Given the description of an element on the screen output the (x, y) to click on. 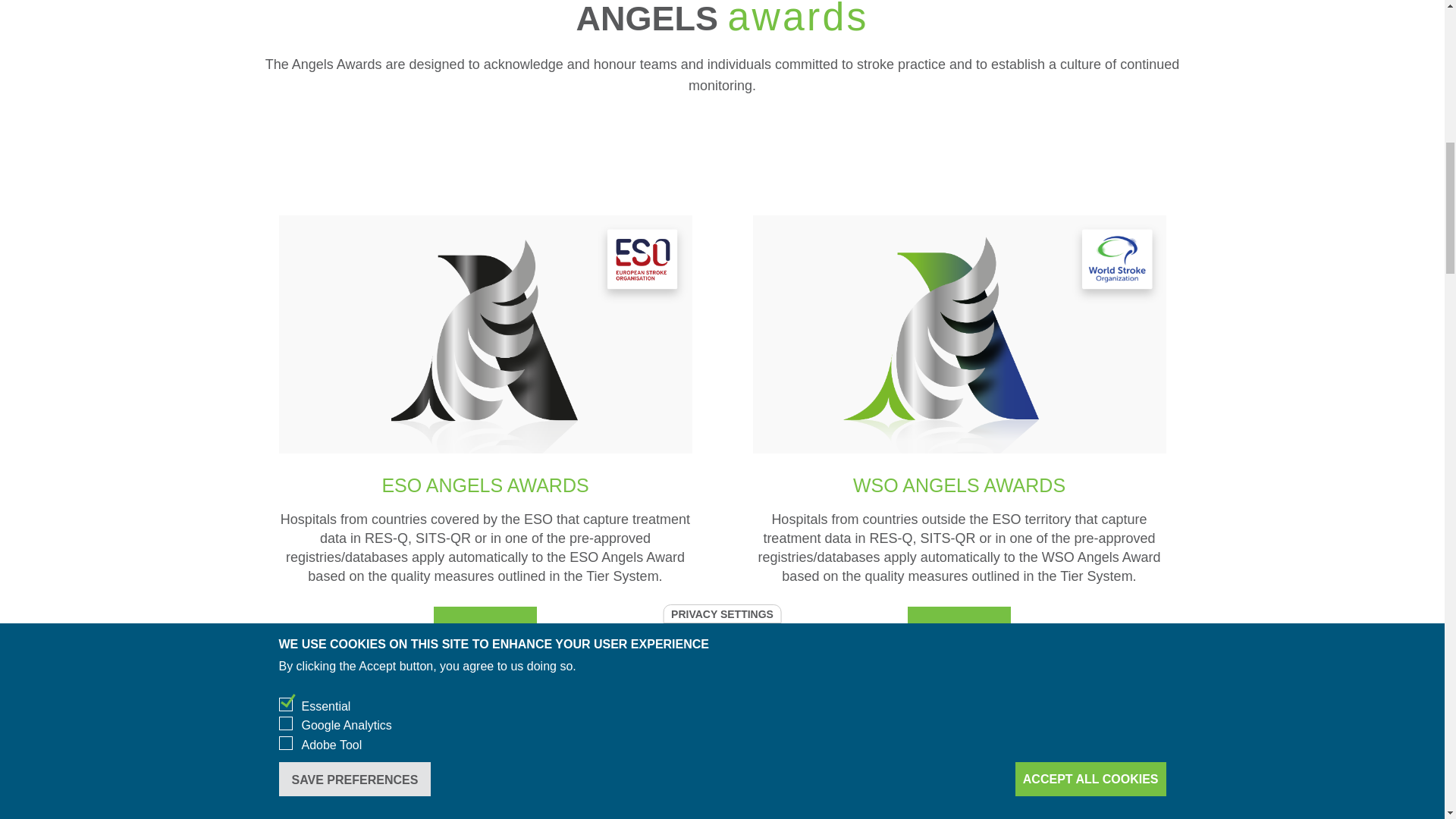
READ MORE (959, 627)
REGISTER YOUR HOSPITAL NOW ON SITS (722, 771)
REGISTER YOUR HOSPITAL NOW ON RES-Q (721, 714)
READ MORE (485, 627)
